Given the description of an element on the screen output the (x, y) to click on. 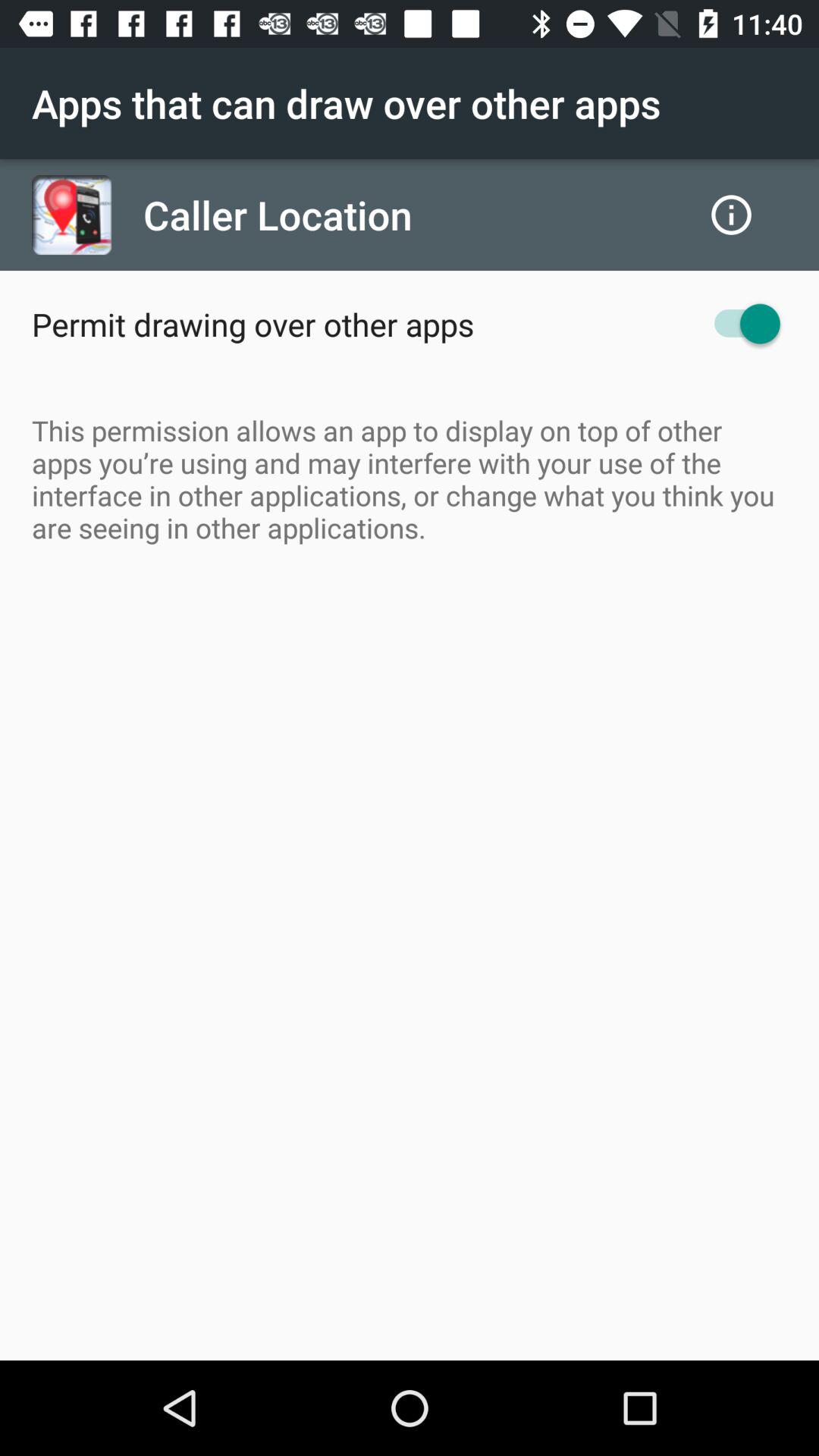
turn off the permit drawing over icon (252, 323)
